Given the description of an element on the screen output the (x, y) to click on. 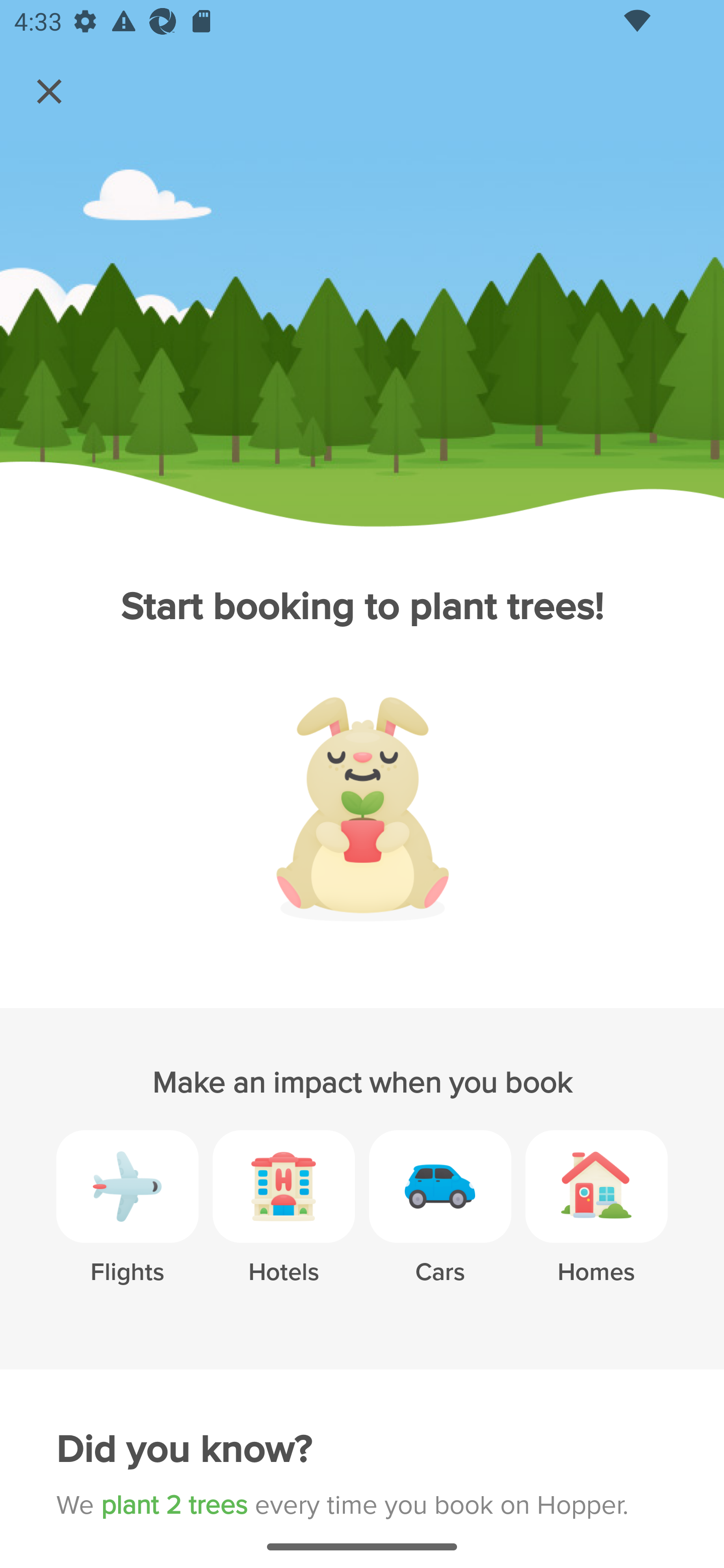
Navigate up (49, 91)
Flights (127, 1221)
Hotels (283, 1221)
Cars (440, 1221)
Homes (596, 1221)
